Given the description of an element on the screen output the (x, y) to click on. 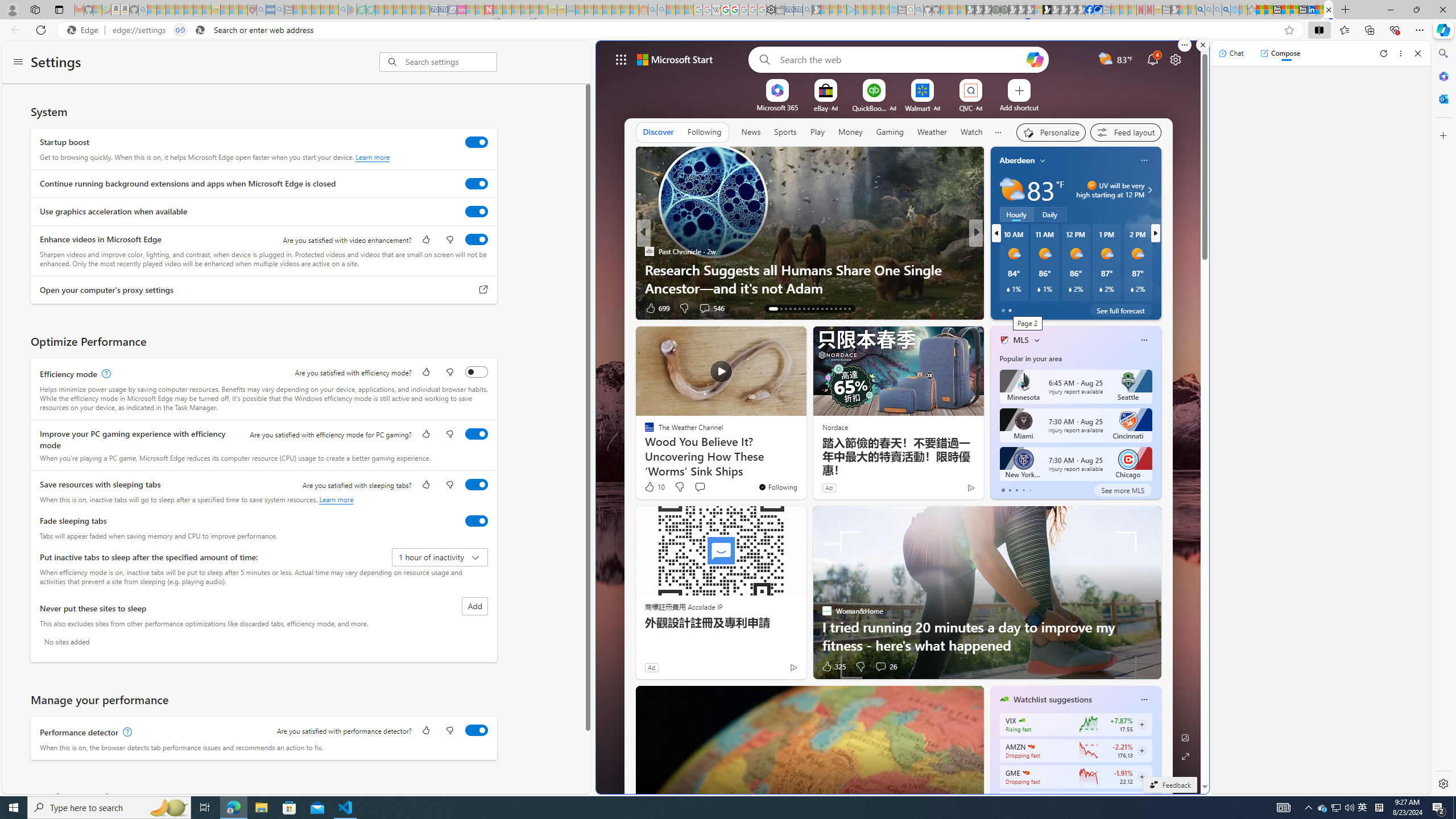
2 Like (1003, 307)
AutomationID: tab-20 (808, 308)
LendingTree (1013, 250)
199 Like (1007, 307)
Class: follow-button  m (1142, 776)
39 Like (1005, 307)
How To Borrow From Your Home Without Touching Your Mortgage (1159, 278)
Improve your PC gaming experience with efficiency mode (476, 433)
View comments 15 Comment (1054, 307)
Weather (931, 132)
